Given the description of an element on the screen output the (x, y) to click on. 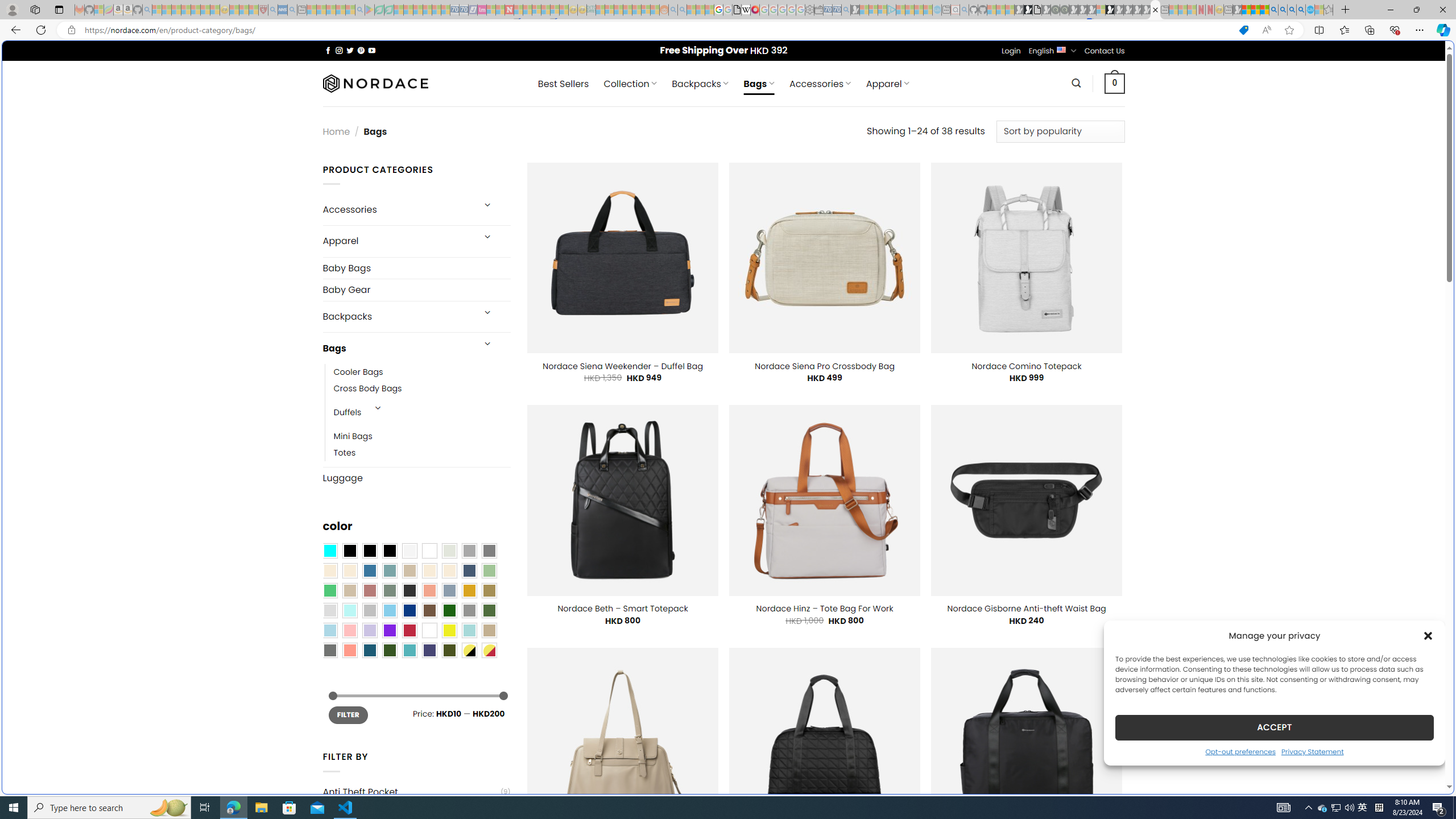
Sage (389, 590)
Mini Bags (422, 436)
Army Green (449, 649)
Aqua Blue (329, 550)
Dark Gray (468, 550)
Light Taupe (349, 590)
